Given the description of an element on the screen output the (x, y) to click on. 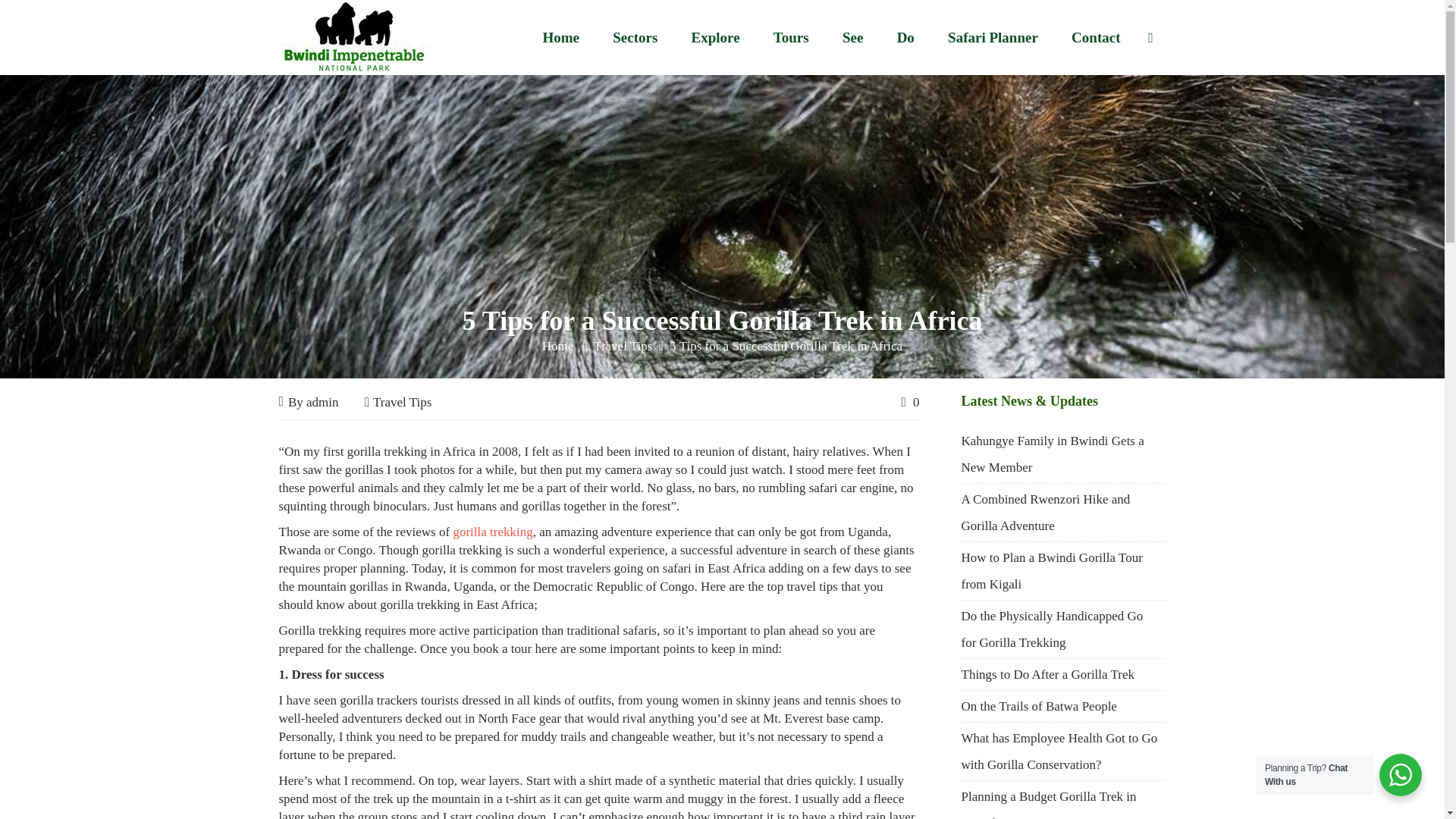
Home (560, 36)
Posts by admin (322, 401)
Sectors (634, 36)
Explore (716, 36)
Tours (791, 36)
